Given the description of an element on the screen output the (x, y) to click on. 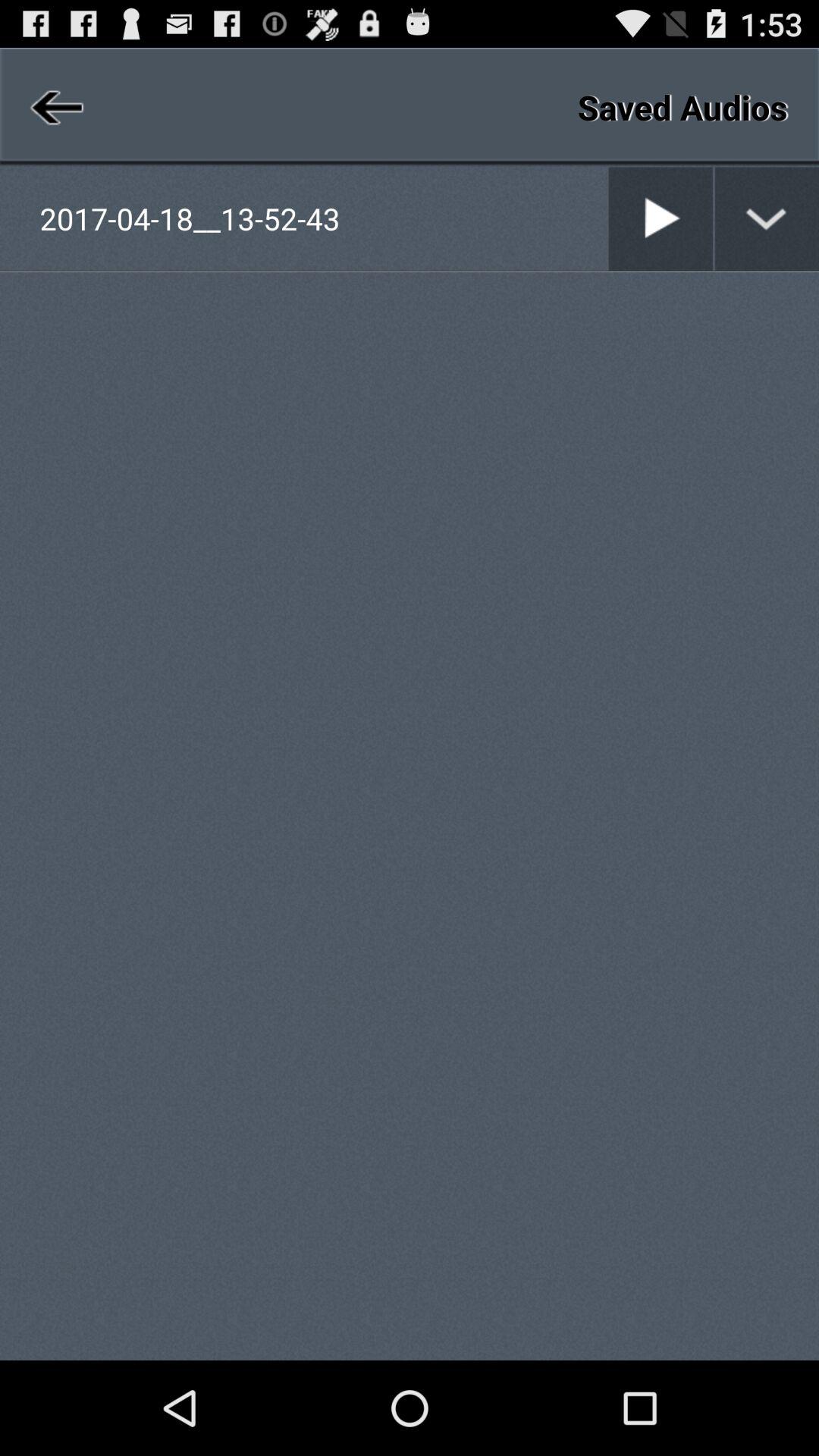
turn on item below saved audios (714, 218)
